Given the description of an element on the screen output the (x, y) to click on. 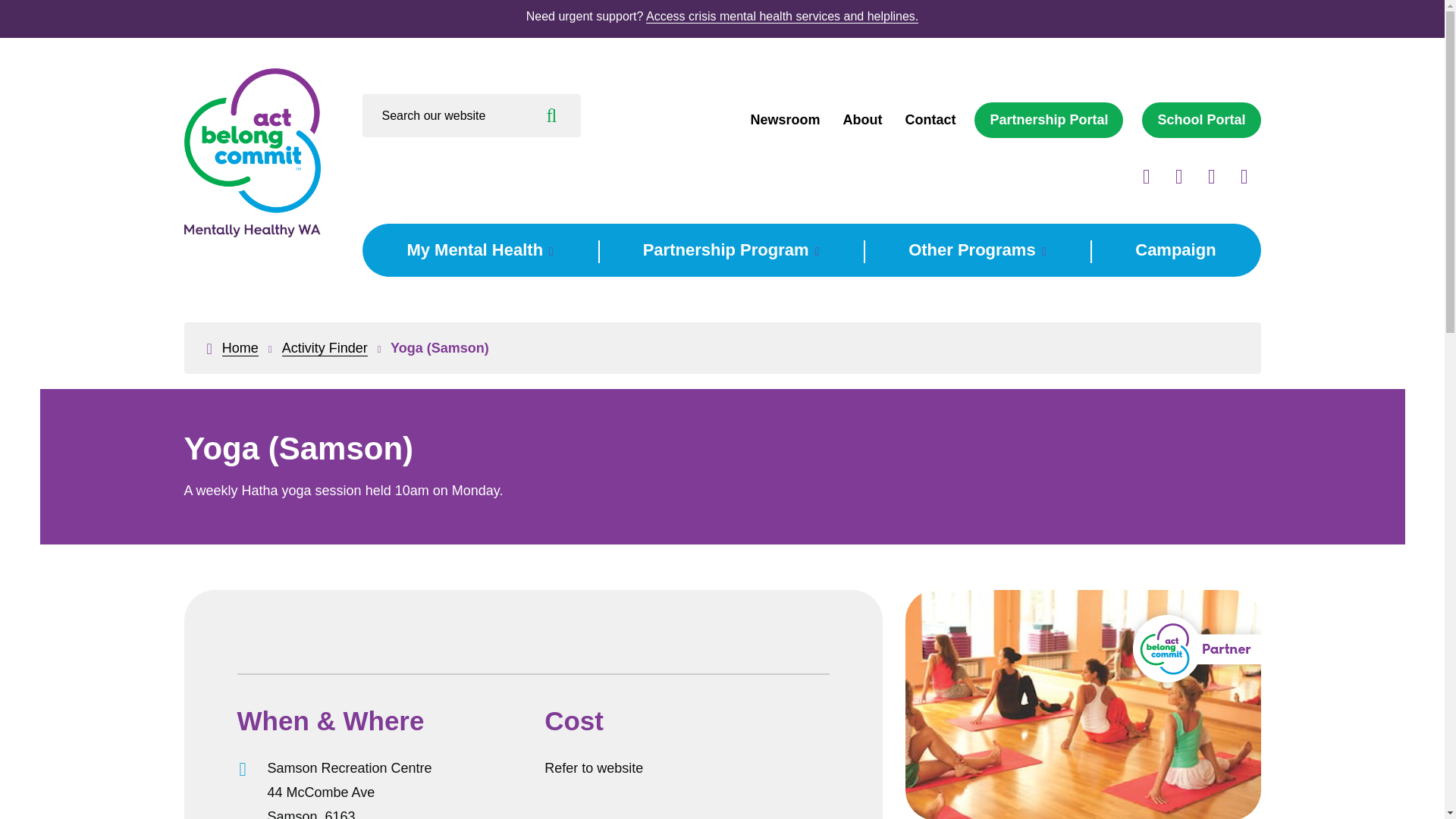
Go to Home. (240, 348)
Submit website search (551, 115)
Partnership Portal (1048, 120)
Access crisis mental health services and helplines. (782, 16)
Newsroom (784, 119)
About (862, 119)
School Portal (1200, 120)
Go to Activity Finder. (325, 348)
Contact (929, 119)
My Mental Health (479, 249)
